Given the description of an element on the screen output the (x, y) to click on. 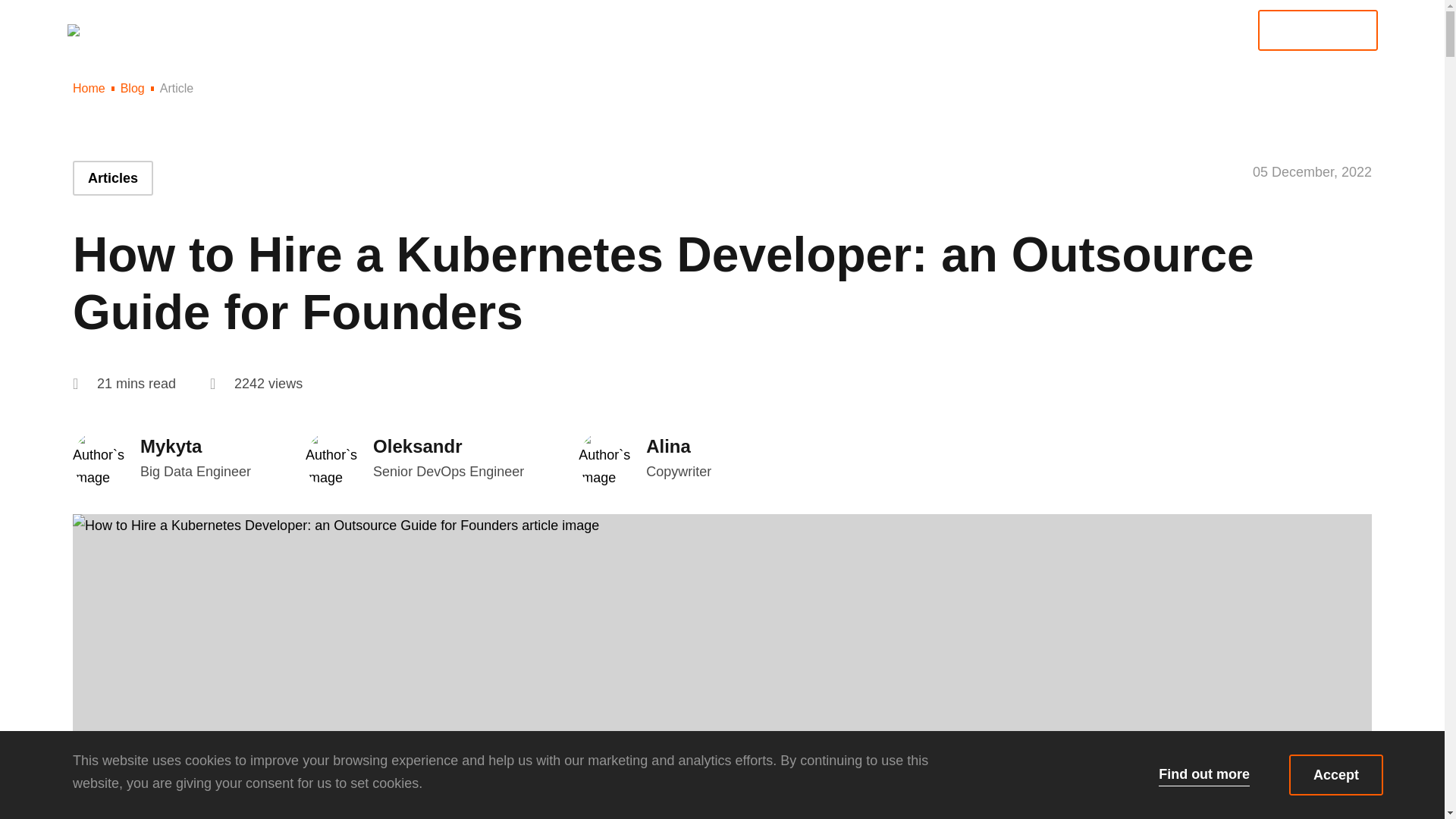
Projects (795, 42)
Find out more (1203, 774)
